Given the description of an element on the screen output the (x, y) to click on. 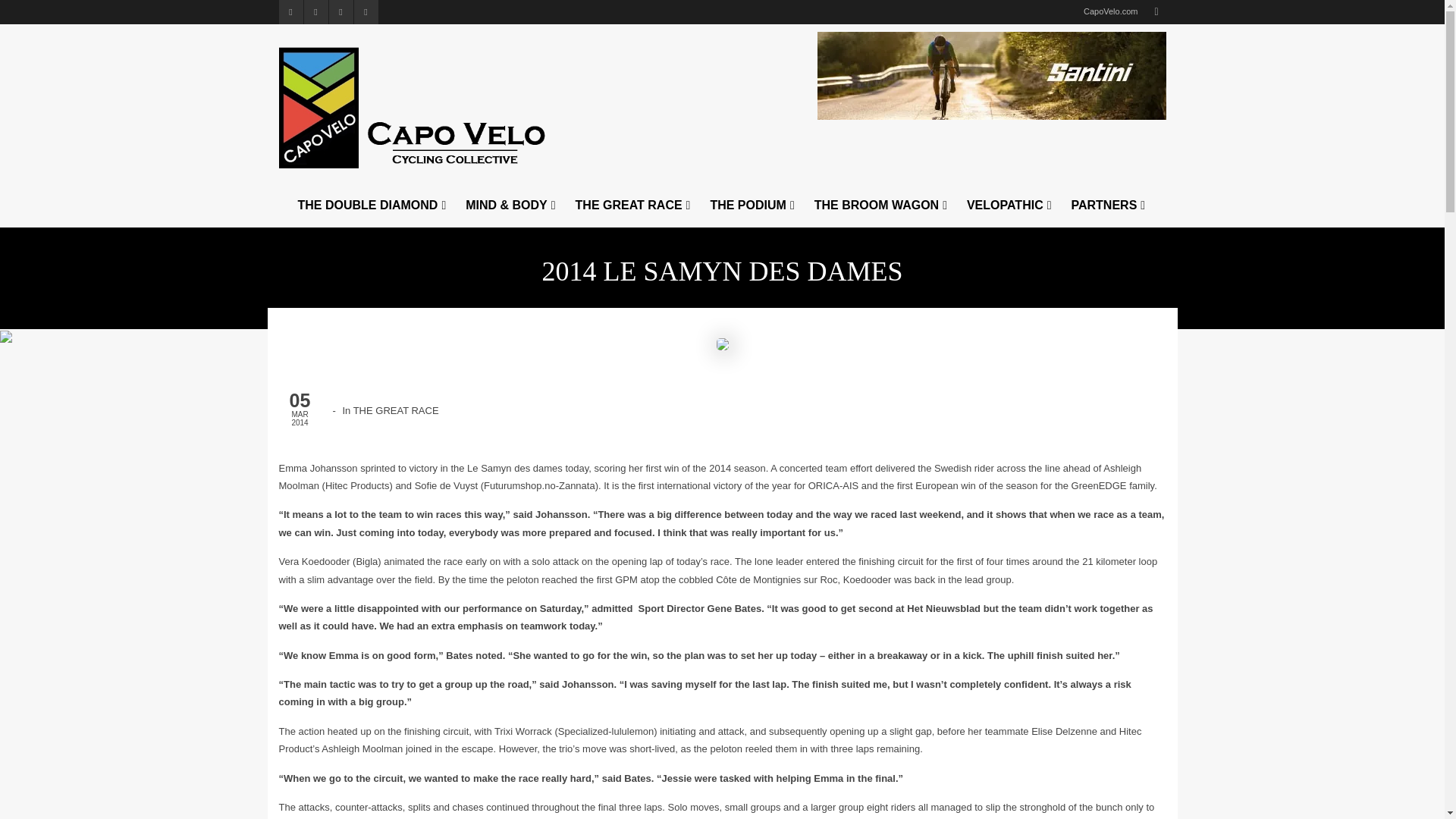
THE DOUBLE DIAMOND (371, 205)
THE GREAT RACE (633, 205)
